Given the description of an element on the screen output the (x, y) to click on. 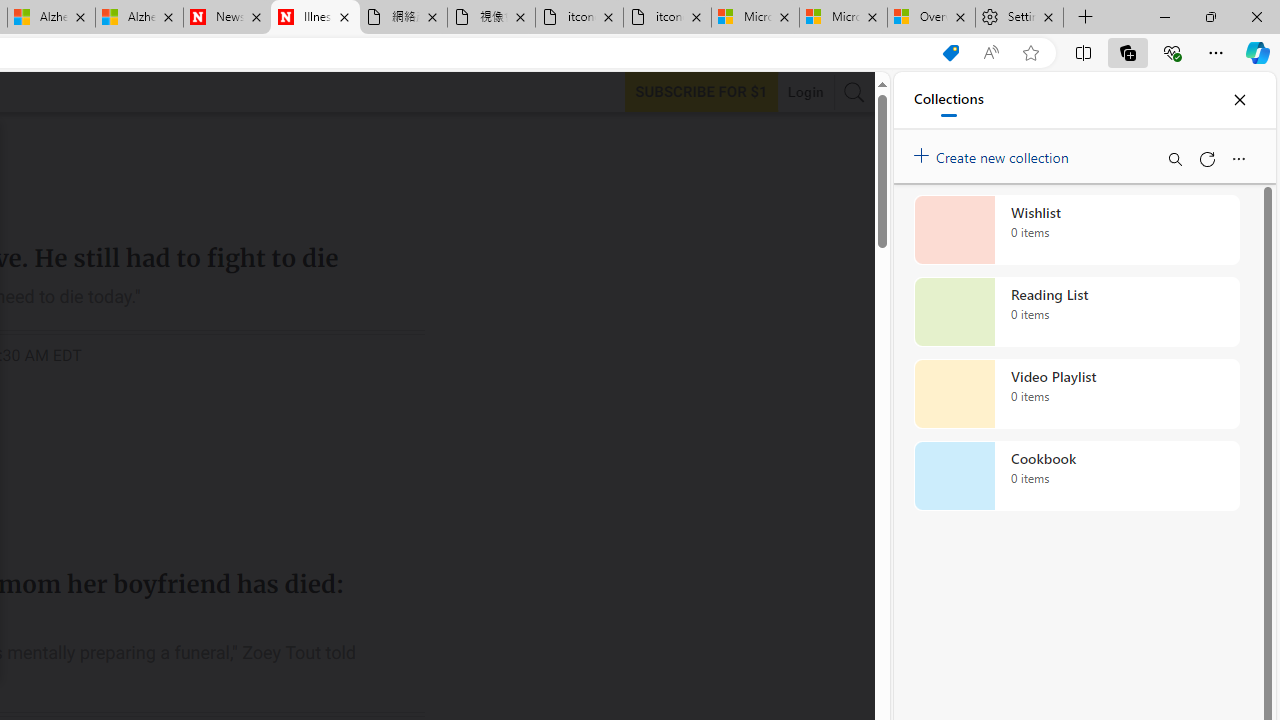
Login (805, 92)
Illness news & latest pictures from Newsweek.com (315, 17)
Overview (931, 17)
More options menu (1238, 158)
Reading List collection, 0 items (1076, 312)
Subscribe to our service (701, 91)
